Given the description of an element on the screen output the (x, y) to click on. 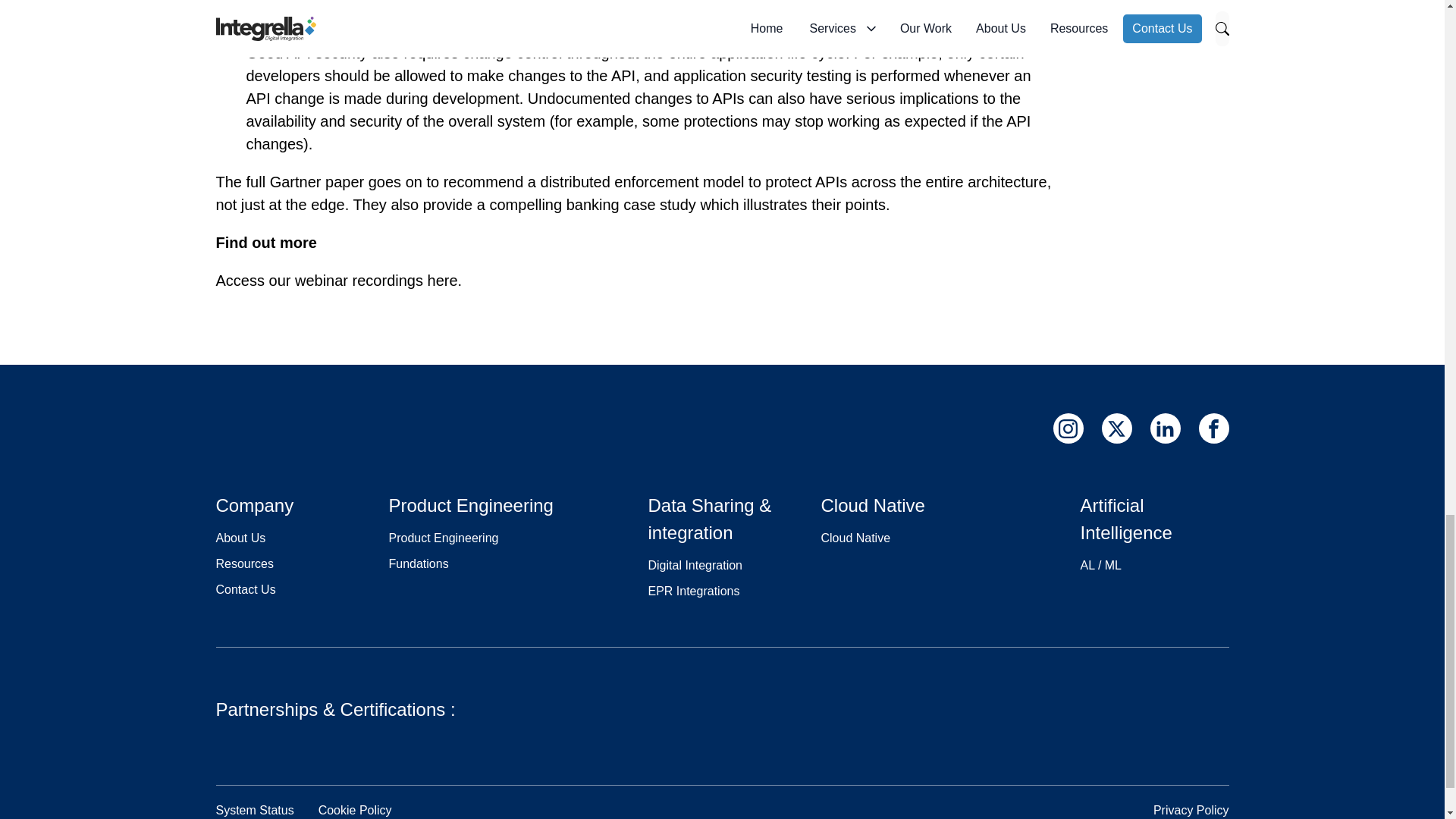
Privacy Policy (1190, 809)
EPR Integrations (693, 590)
Fundations (418, 563)
Gartner paper (317, 181)
About Us (239, 537)
Contact Us (245, 589)
Product Engineering (442, 537)
Cloud Native (855, 537)
Resources (244, 563)
Access our webinar recordings here. (338, 280)
